Given the description of an element on the screen output the (x, y) to click on. 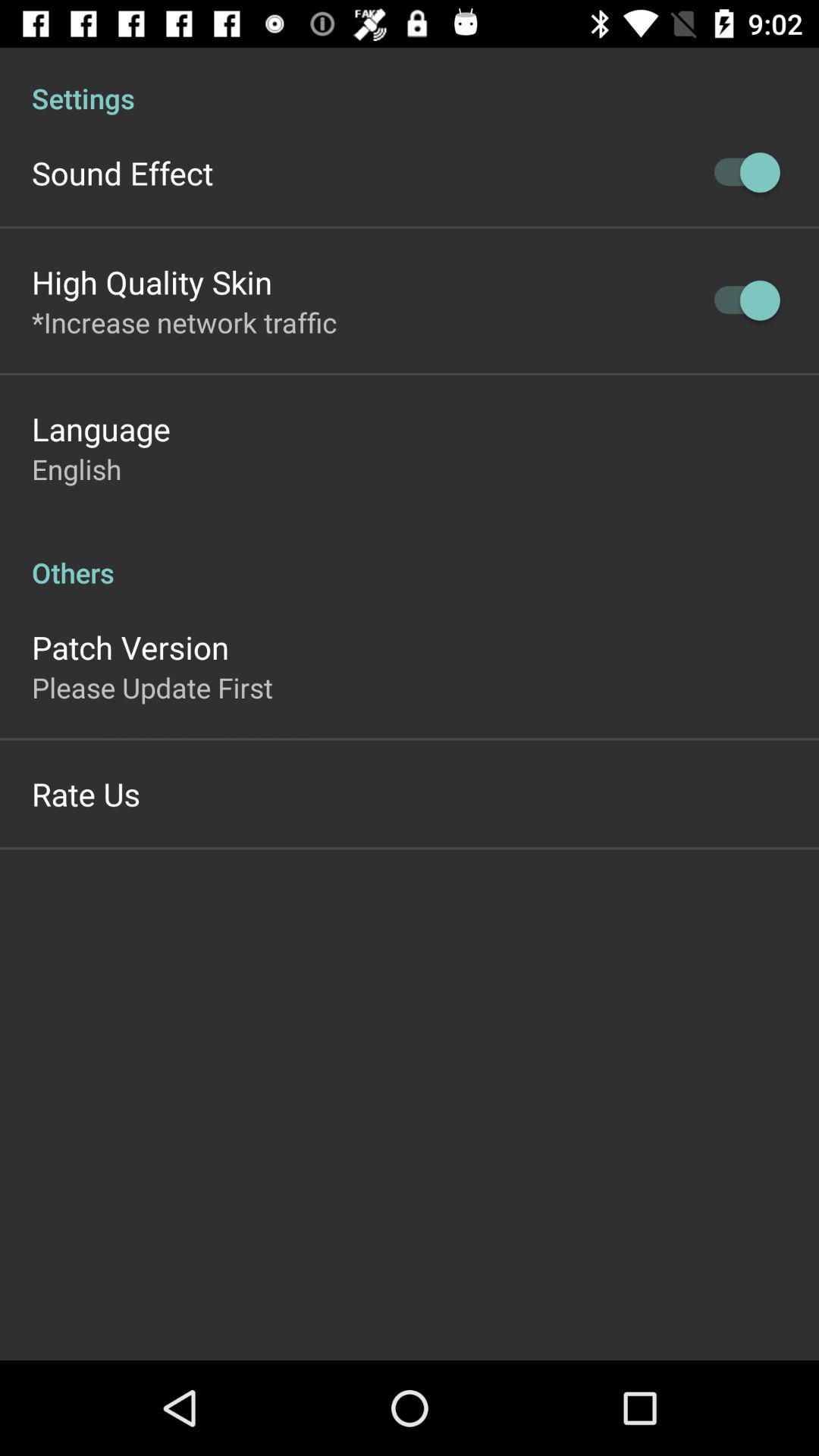
swipe to language app (100, 428)
